Given the description of an element on the screen output the (x, y) to click on. 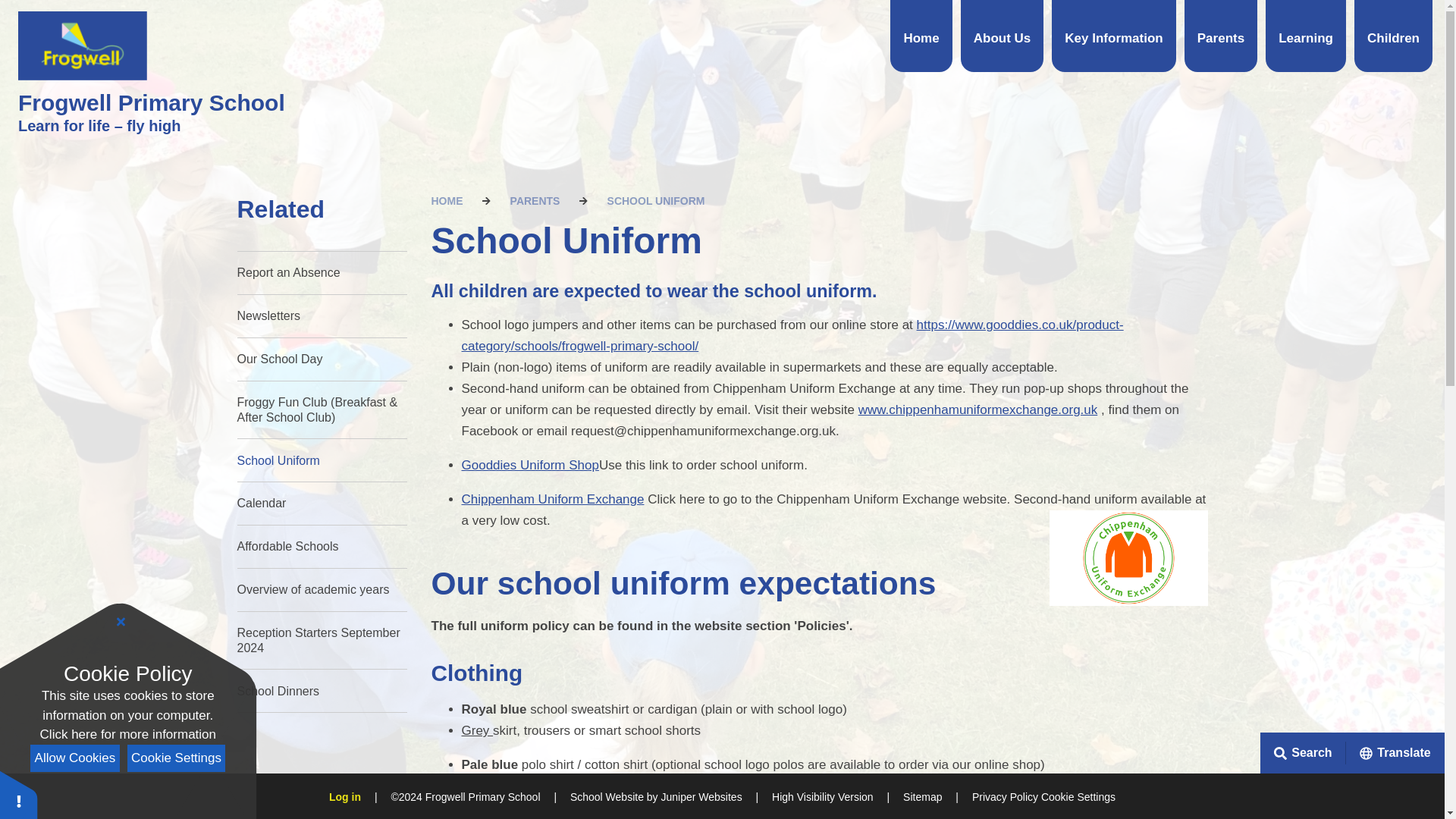
Search (1302, 752)
Allow Cookies (74, 758)
About Us (1001, 36)
Key Information (1112, 36)
Search (1415, 752)
See cookie policy (127, 734)
Cookie Settings (1078, 797)
Cookie Settings (176, 758)
